Given the description of an element on the screen output the (x, y) to click on. 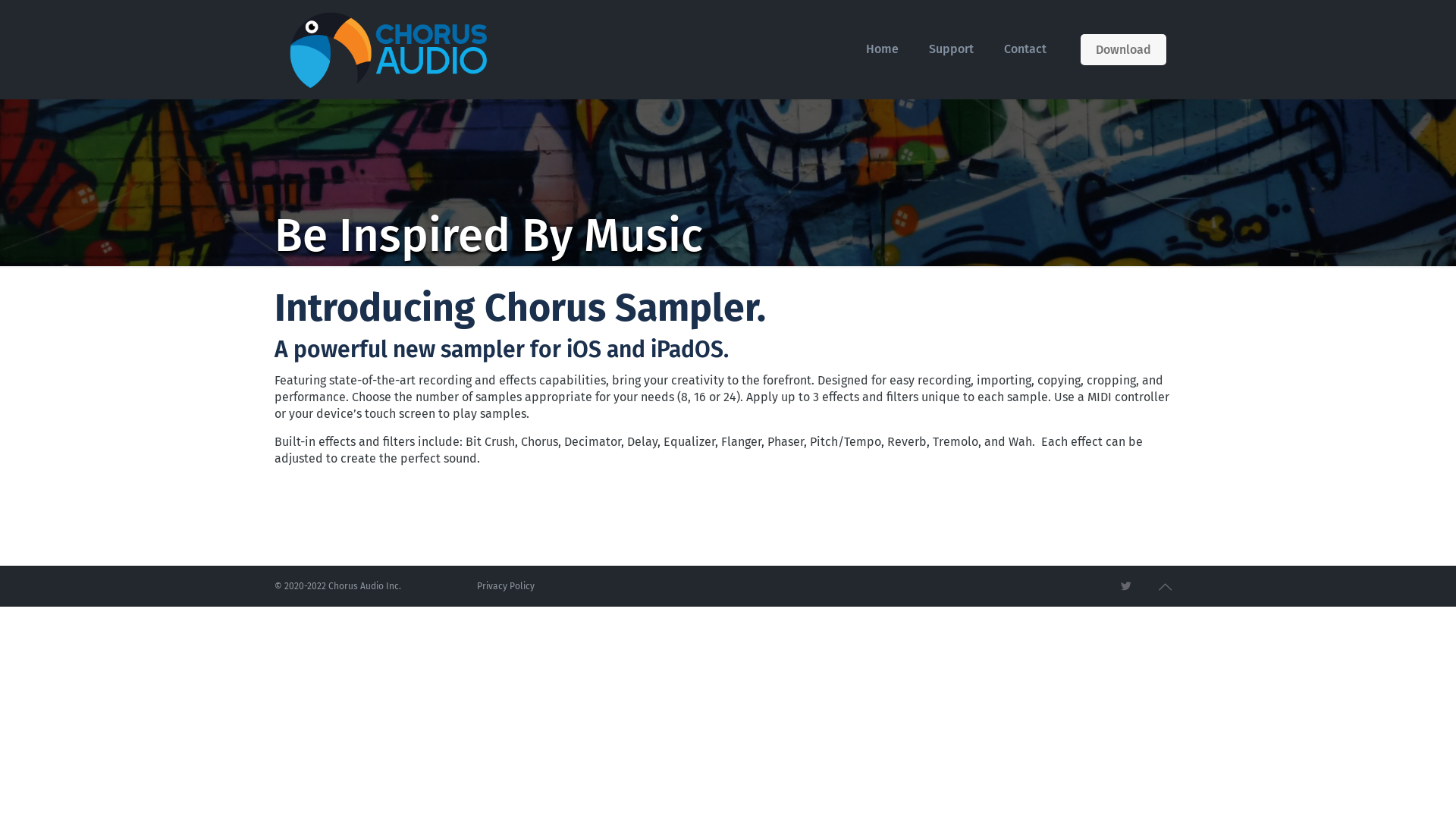
Chorus Audio Element type: hover (387, 49)
Privacy Policy Element type: text (505, 585)
Home Element type: text (881, 49)
Download Element type: text (1123, 48)
Support Element type: text (950, 49)
Contact Element type: text (1024, 49)
Twitter Element type: hover (1126, 586)
